Given the description of an element on the screen output the (x, y) to click on. 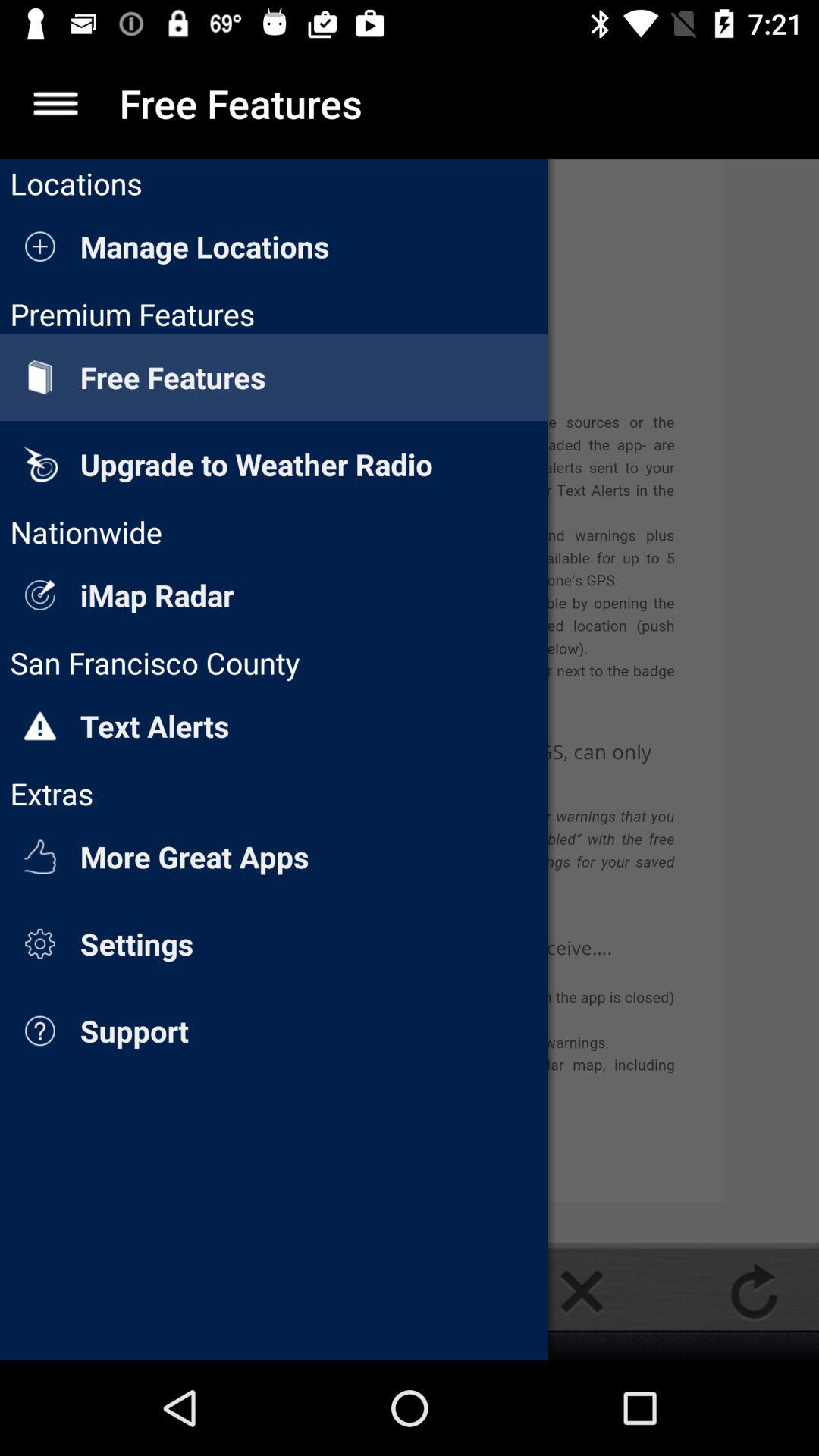
click to close option (581, 1291)
